Given the description of an element on the screen output the (x, y) to click on. 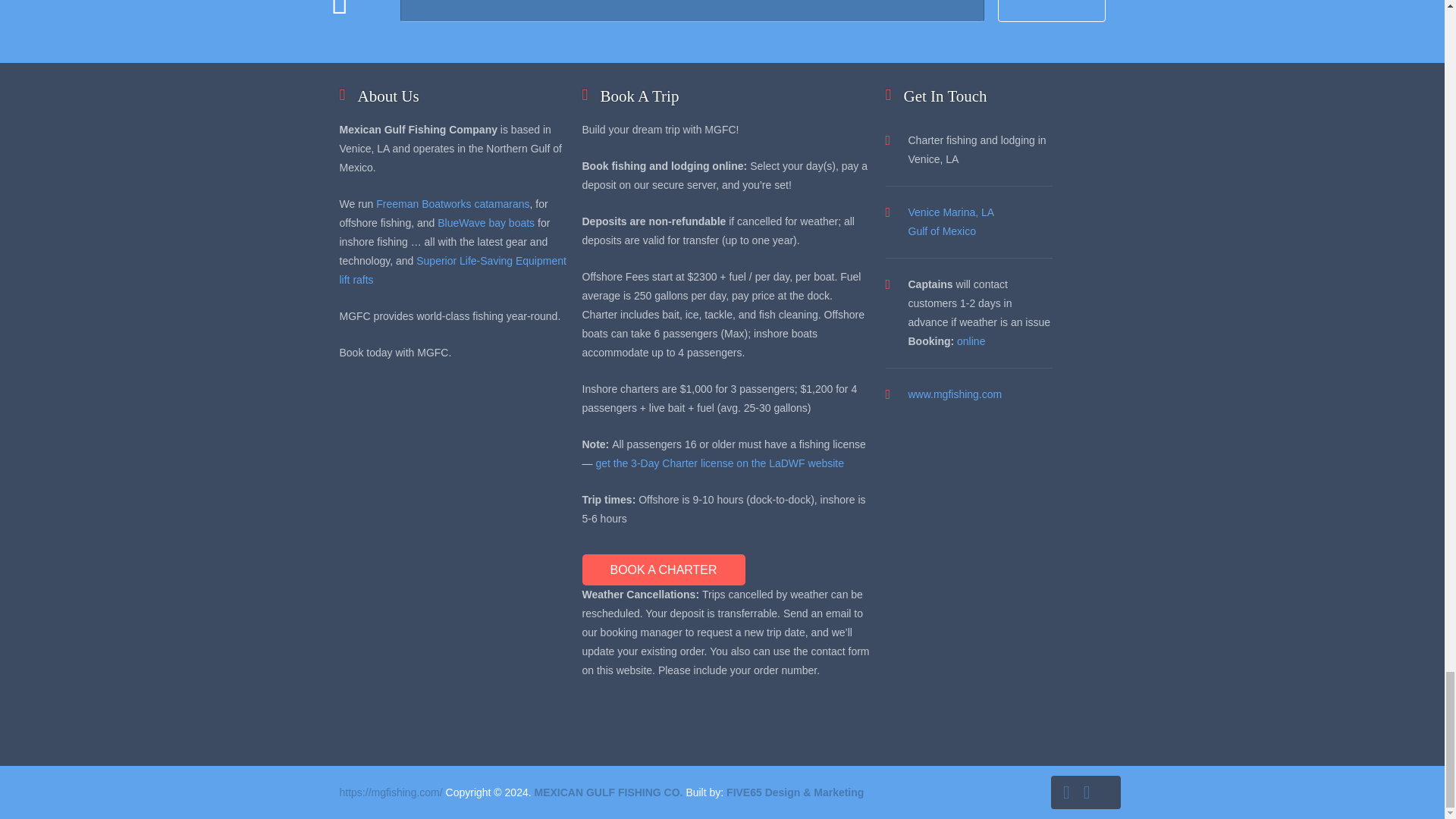
the best offshore charter fishing in the gulf of mexico (955, 394)
super terrific web design and marketing from New Orleans, LA (794, 792)
we fish from Venice Marina (951, 221)
Sign Up (1050, 10)
the best blue water charter fishing in the gulf of mexico (608, 792)
